Given the description of an element on the screen output the (x, y) to click on. 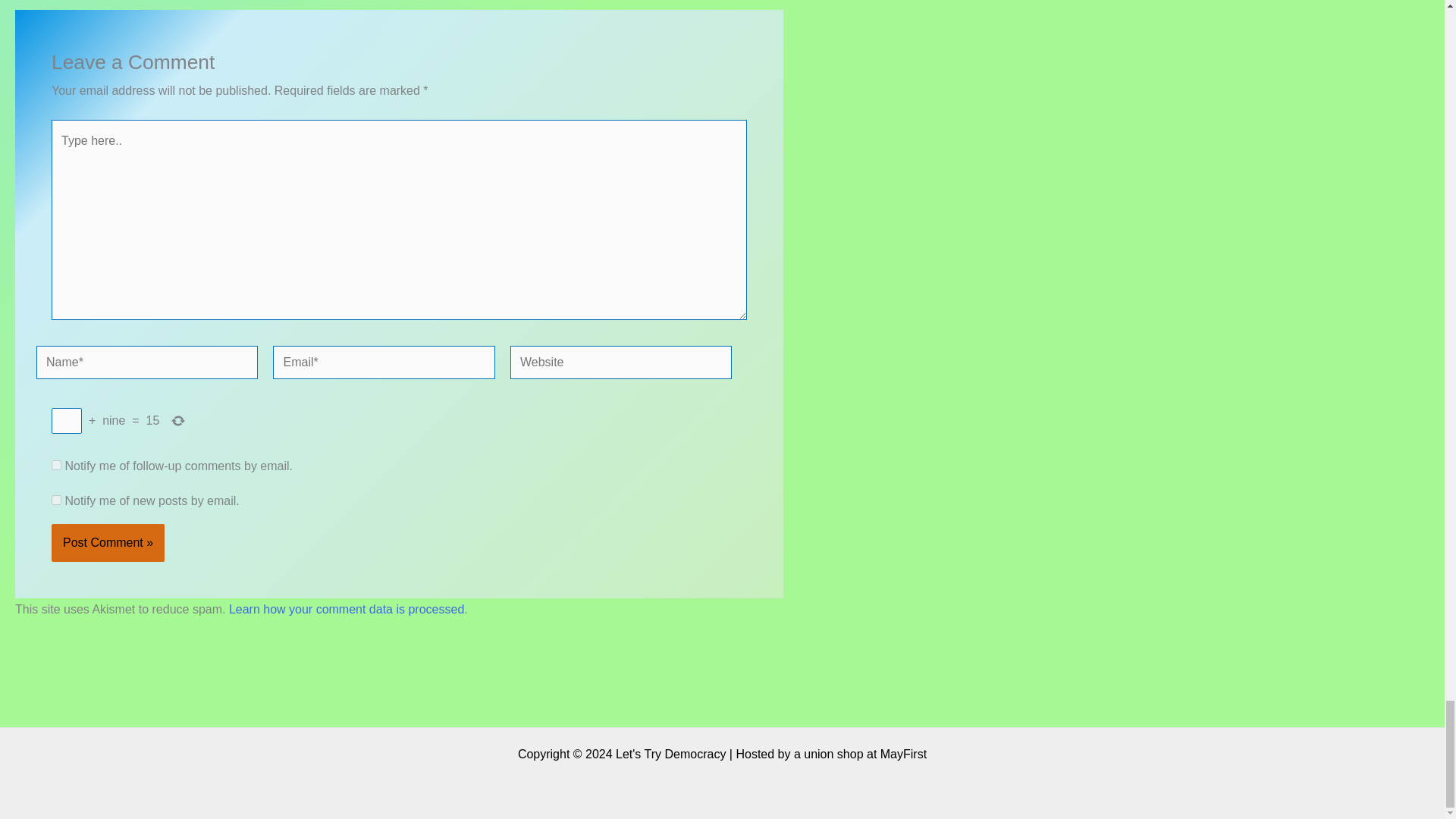
subscribe (55, 500)
subscribe (55, 465)
